Given the description of an element on the screen output the (x, y) to click on. 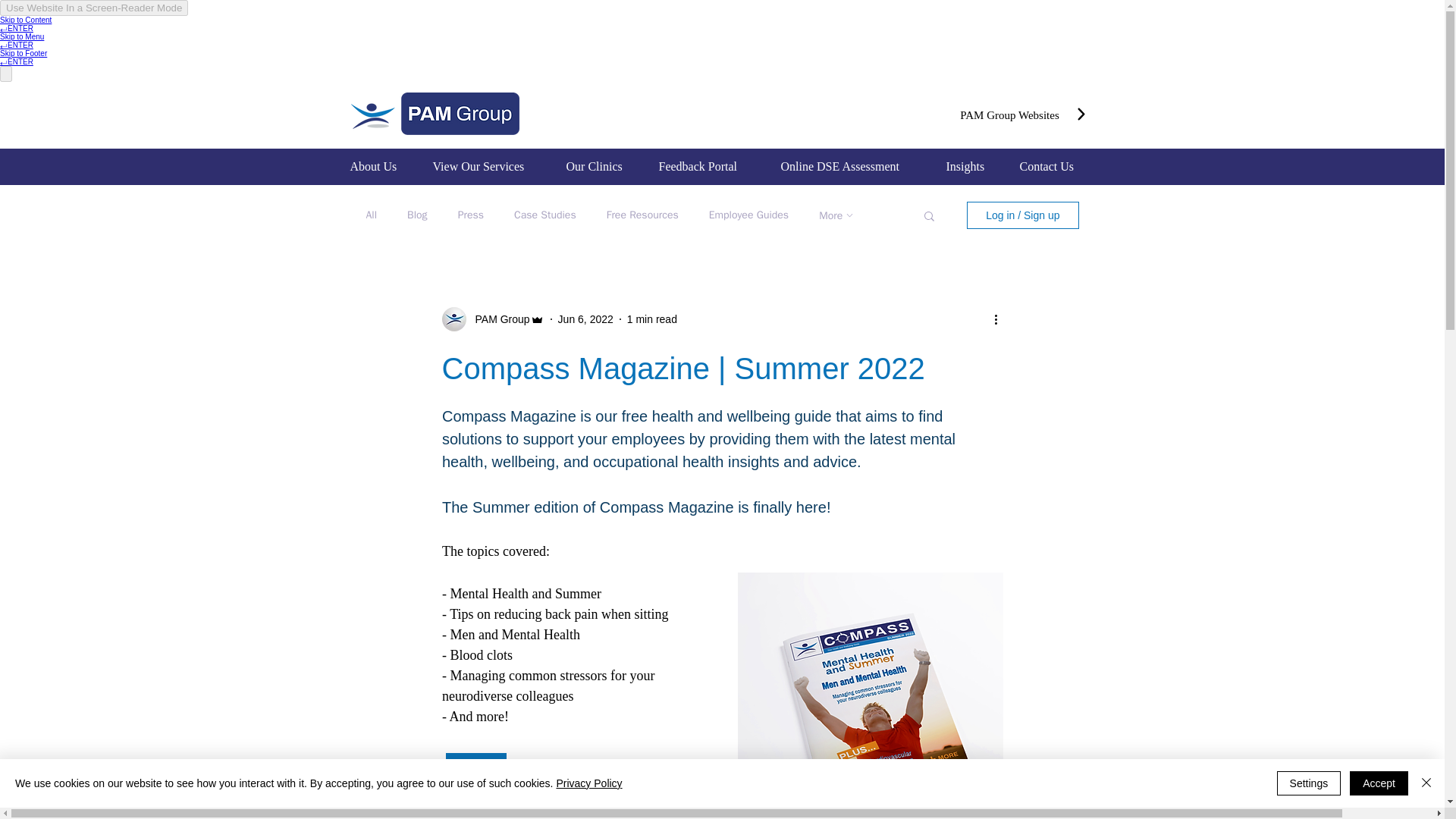
PAM Group (497, 318)
About Us (378, 166)
1 min read (652, 318)
View Our Services (488, 166)
Our Clinics (600, 166)
PAM Group Websites (1008, 115)
Jun 6, 2022 (584, 318)
